Given the description of an element on the screen output the (x, y) to click on. 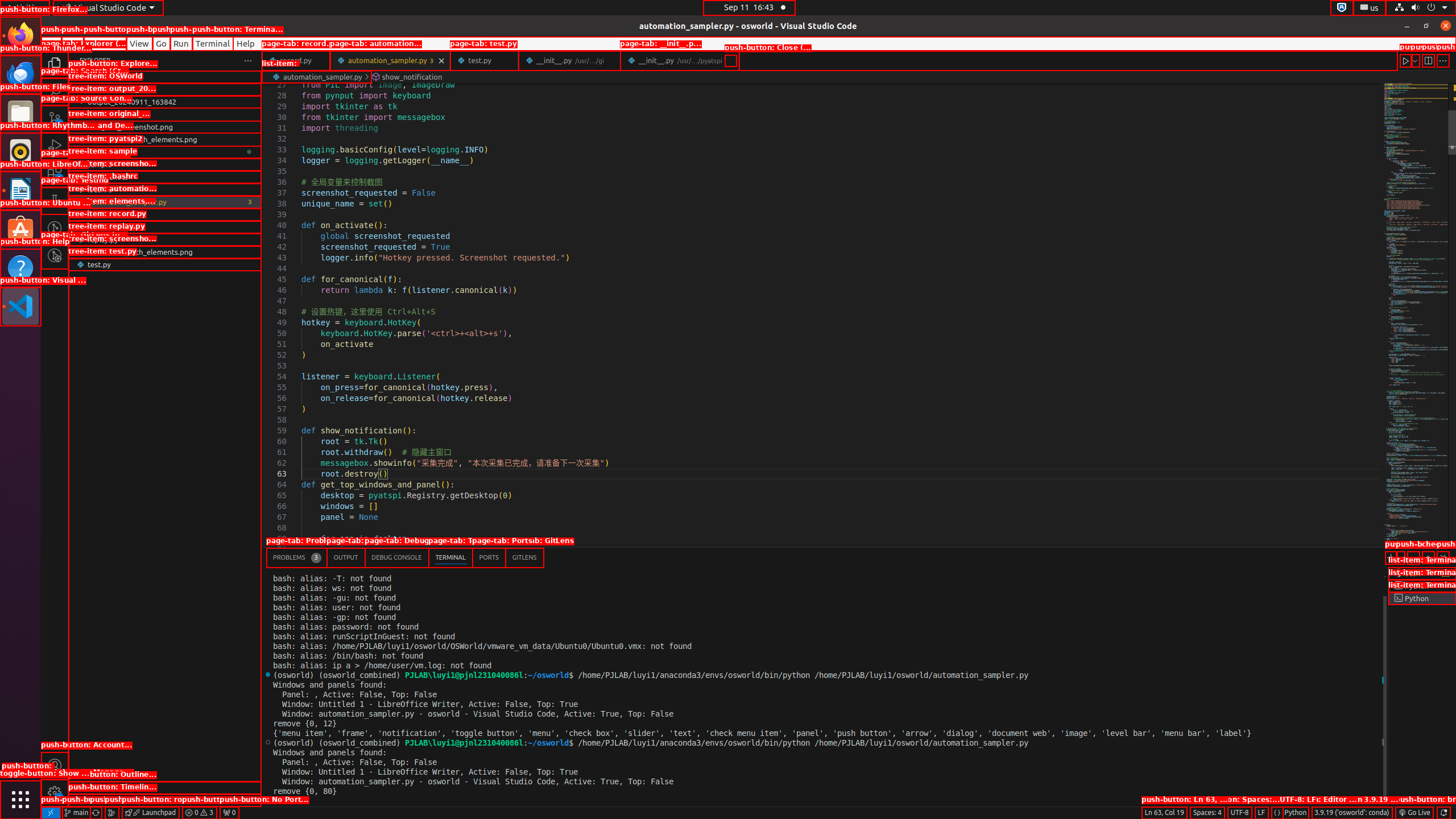
Ports Element type: page-tab (488, 557)
GitLens Element type: page-tab (524, 557)
Hide Panel Element type: push-button (1442, 557)
Launch Profile... Element type: push-button (1399, 557)
